Given the description of an element on the screen output the (x, y) to click on. 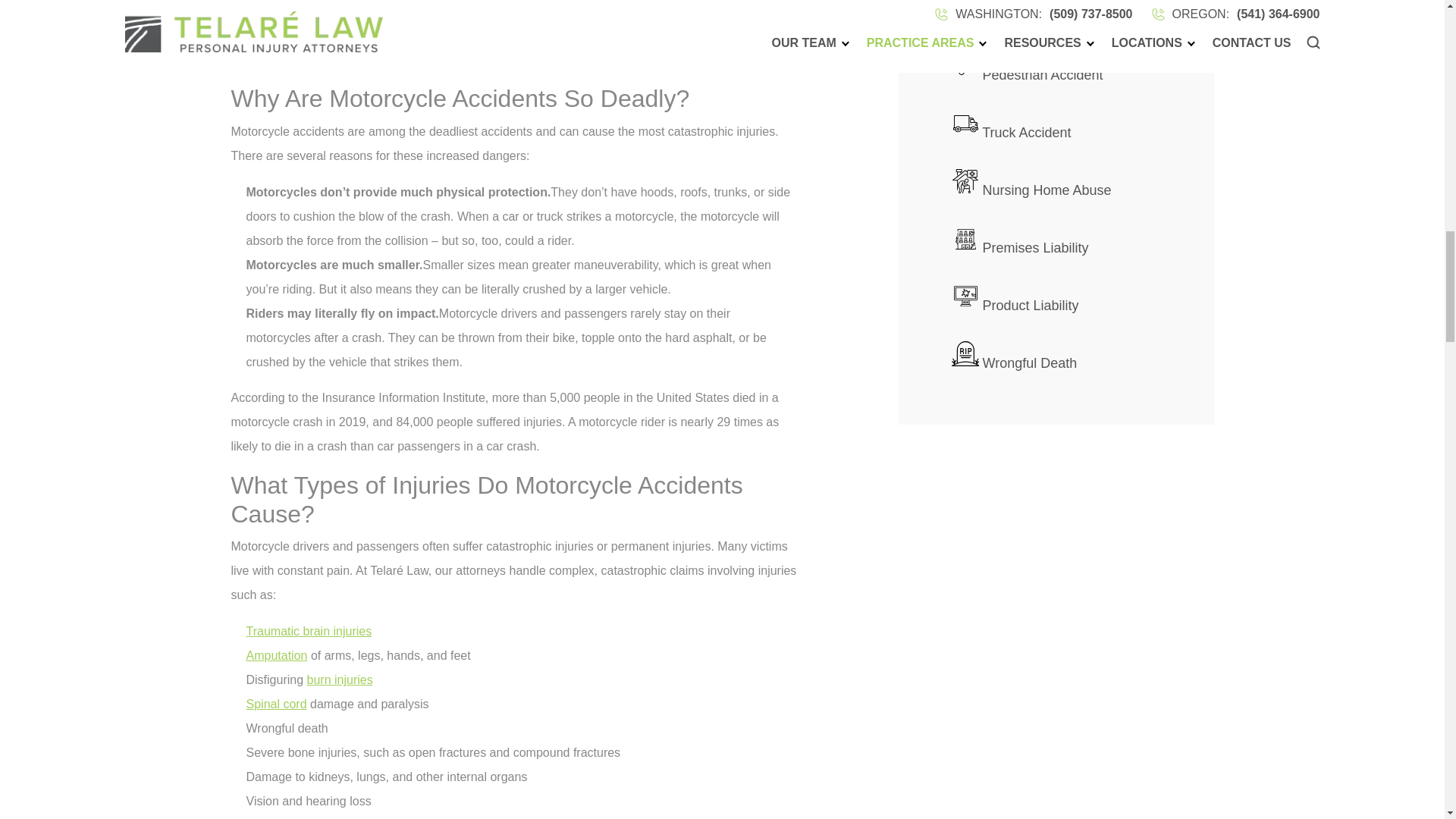
Traumatic brain injuries (308, 631)
Amputation (276, 655)
Spinal cord (275, 703)
burn injuries (339, 679)
